Given the description of an element on the screen output the (x, y) to click on. 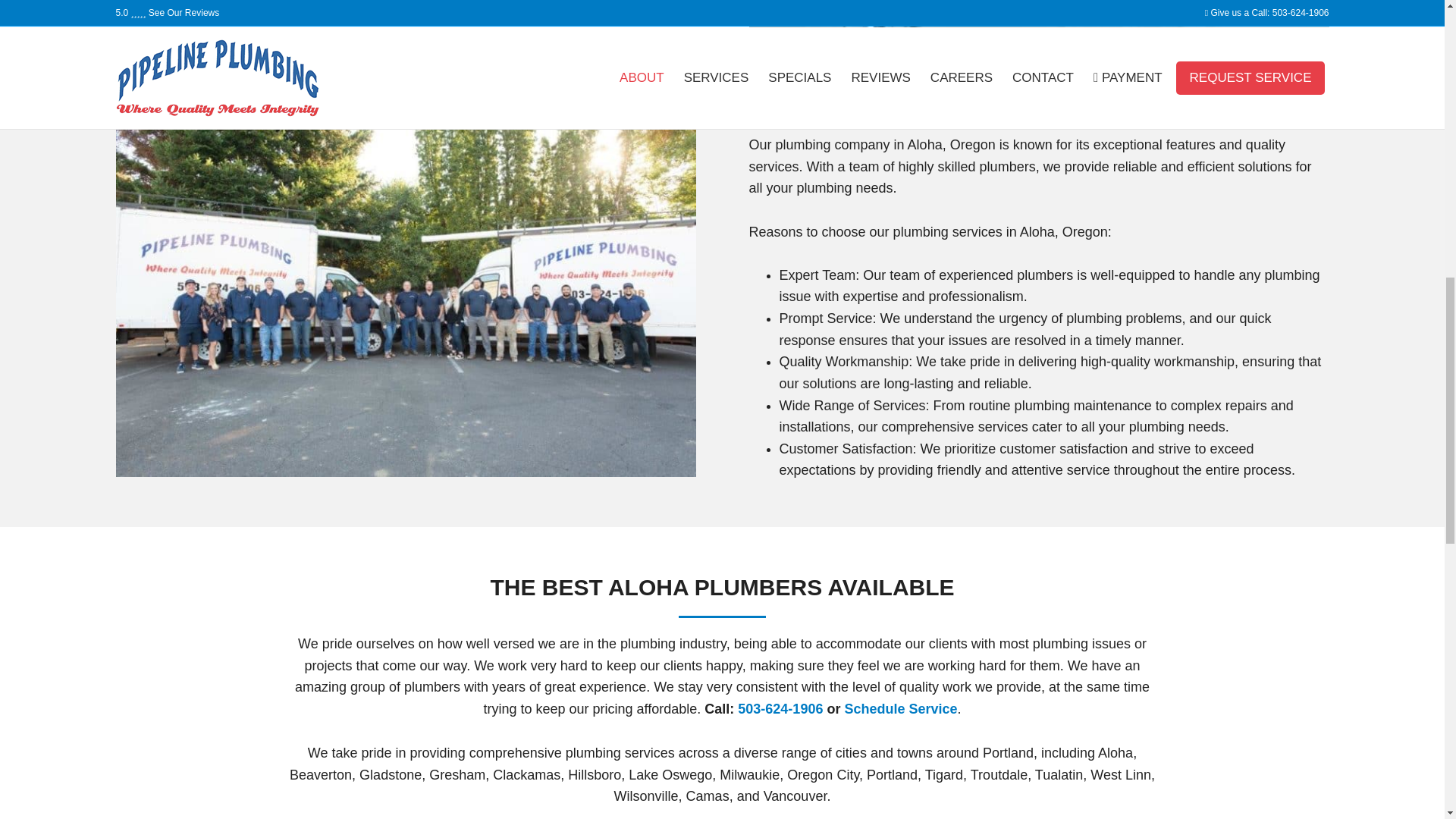
plumbing596 (1039, 13)
